Given the description of an element on the screen output the (x, y) to click on. 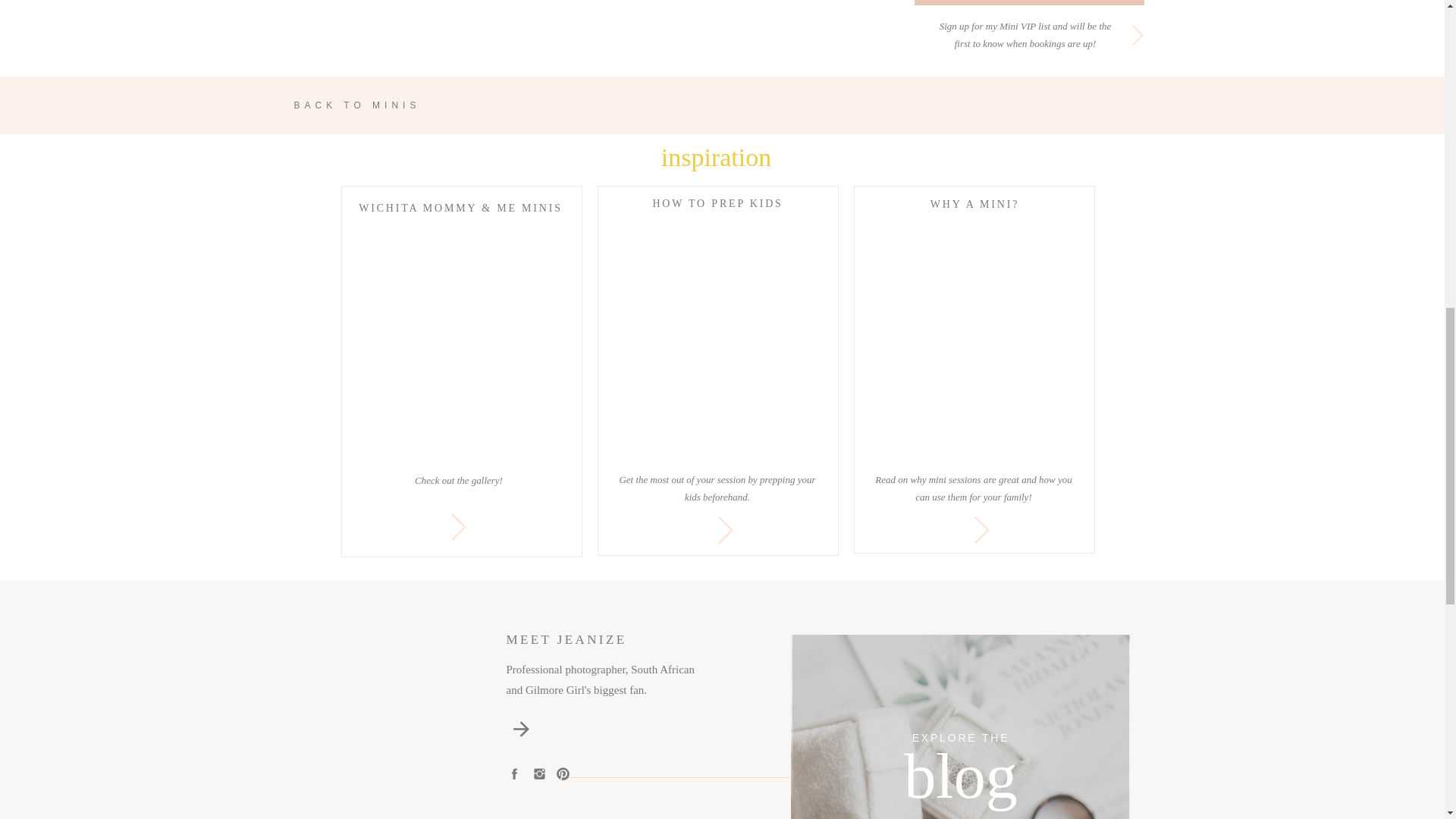
BACK TO MINIS (380, 105)
HOW TO PREP KIDS (716, 204)
BOOK HERE! (1029, 3)
WHY A MINI? (975, 204)
blog (960, 778)
